Given the description of an element on the screen output the (x, y) to click on. 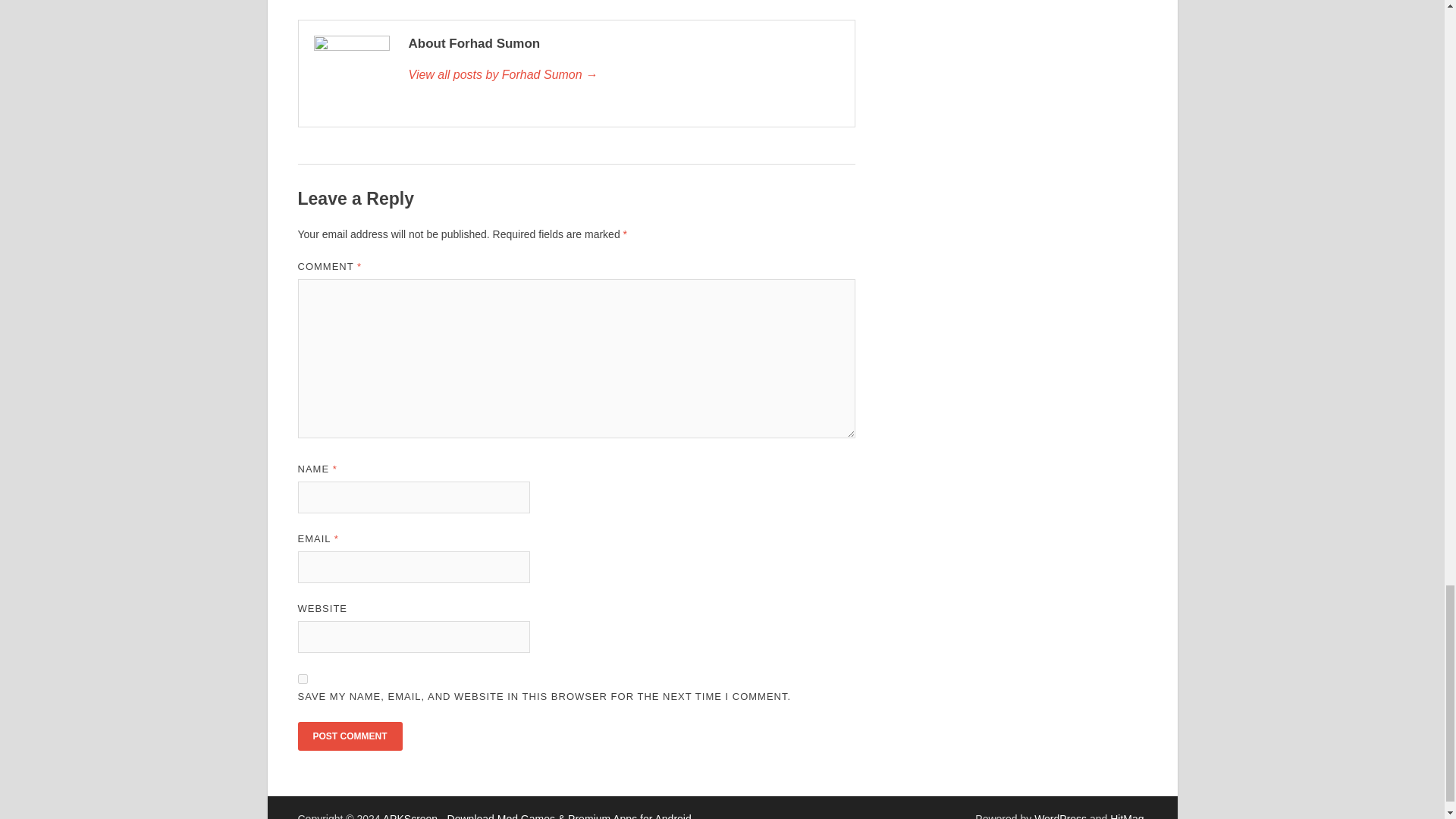
Post Comment (349, 736)
yes (302, 678)
Post Comment (349, 736)
Forhad Sumon (622, 75)
